Given the description of an element on the screen output the (x, y) to click on. 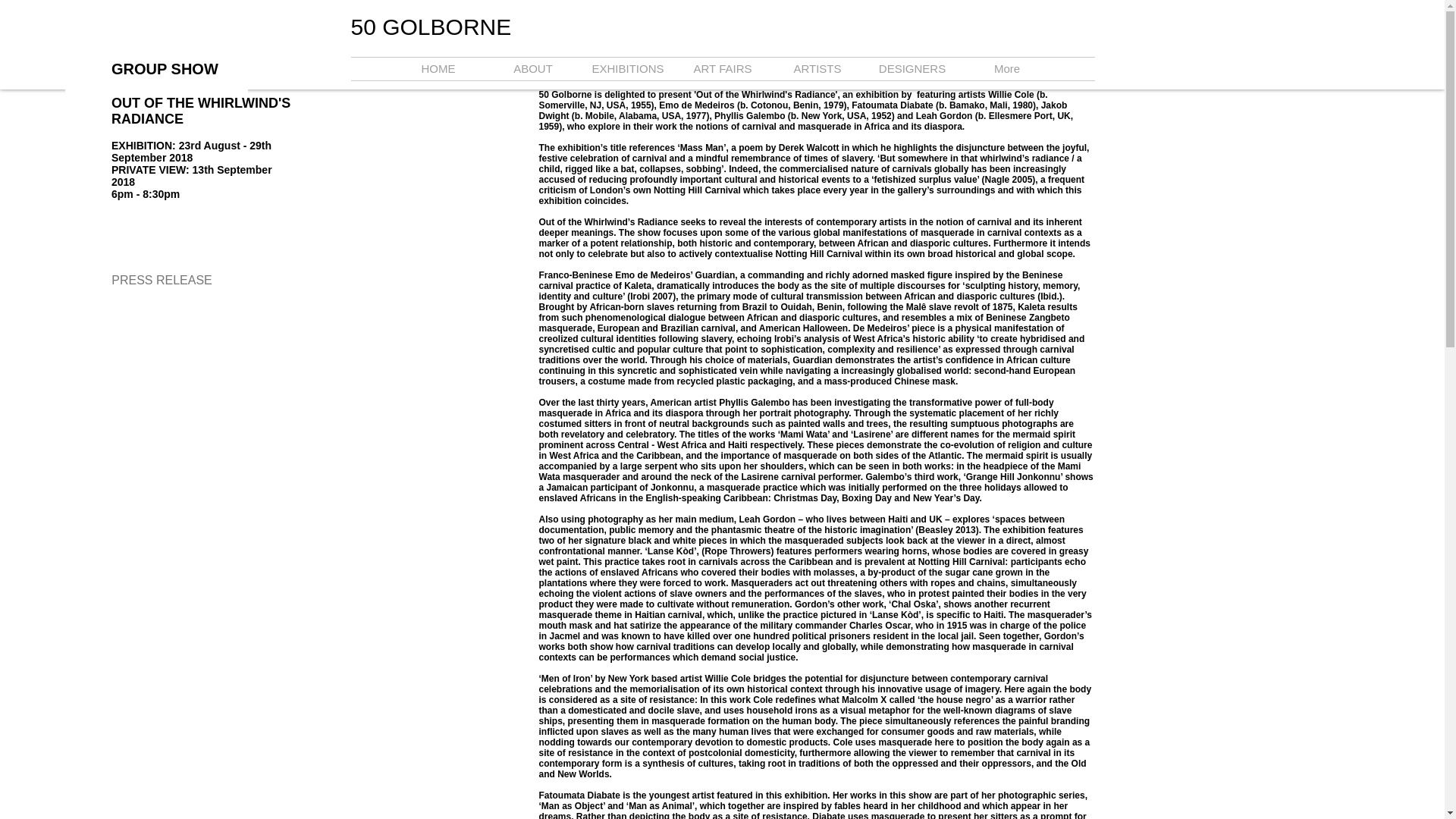
50 GOLBORNE (430, 26)
EXHIBITIONS (627, 68)
PRESS RELEASE (162, 280)
ABOUT (531, 68)
ART FAIRS (722, 68)
DESIGNERS (911, 68)
ARTISTS (817, 68)
HOME (438, 68)
